Given the description of an element on the screen output the (x, y) to click on. 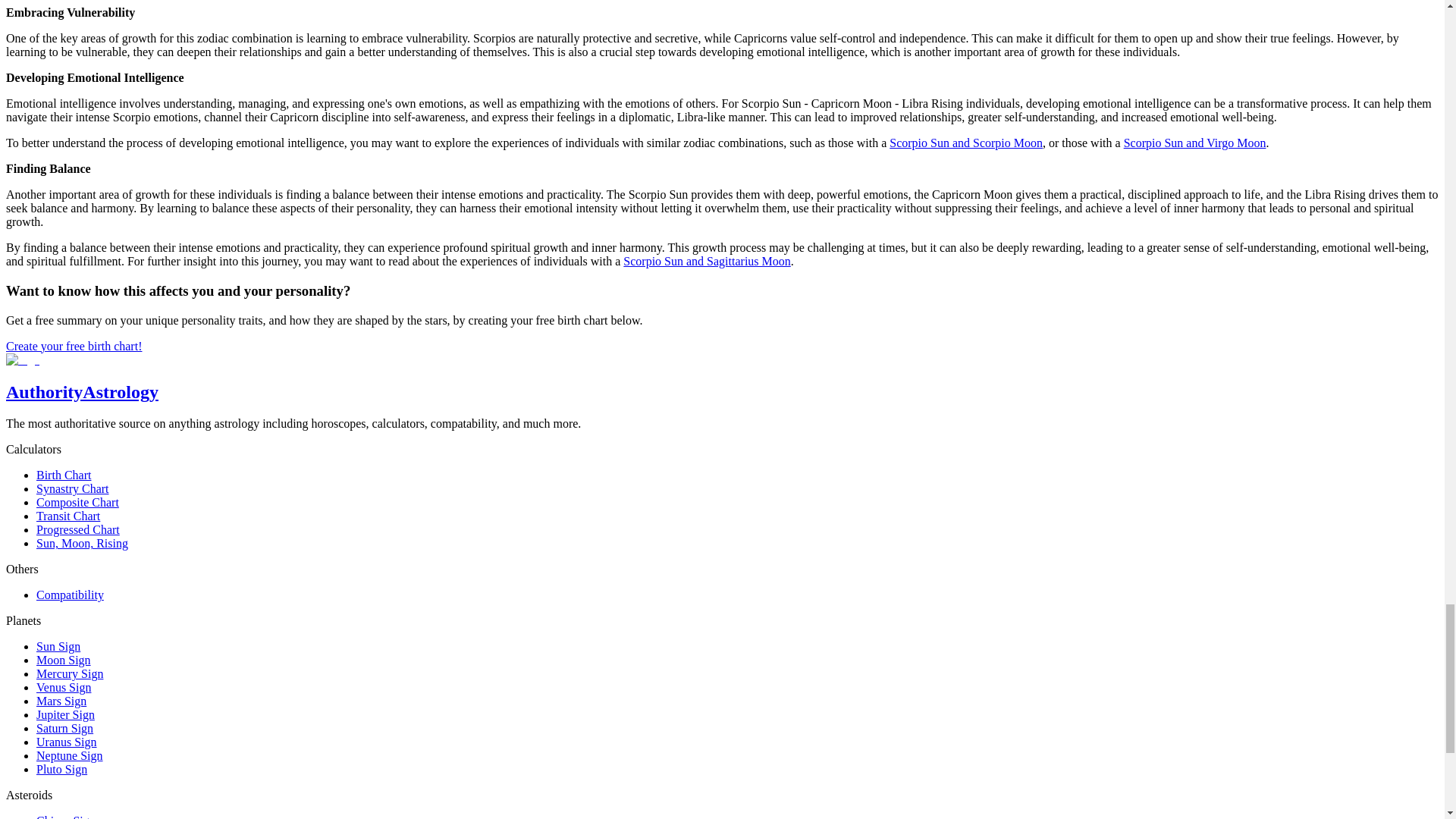
Scorpio Sun and Sagittarius Moon (706, 260)
Scorpio Sun and Scorpio Moon (965, 142)
Scorpio Sun and Virgo Moon (1195, 142)
